Given the description of an element on the screen output the (x, y) to click on. 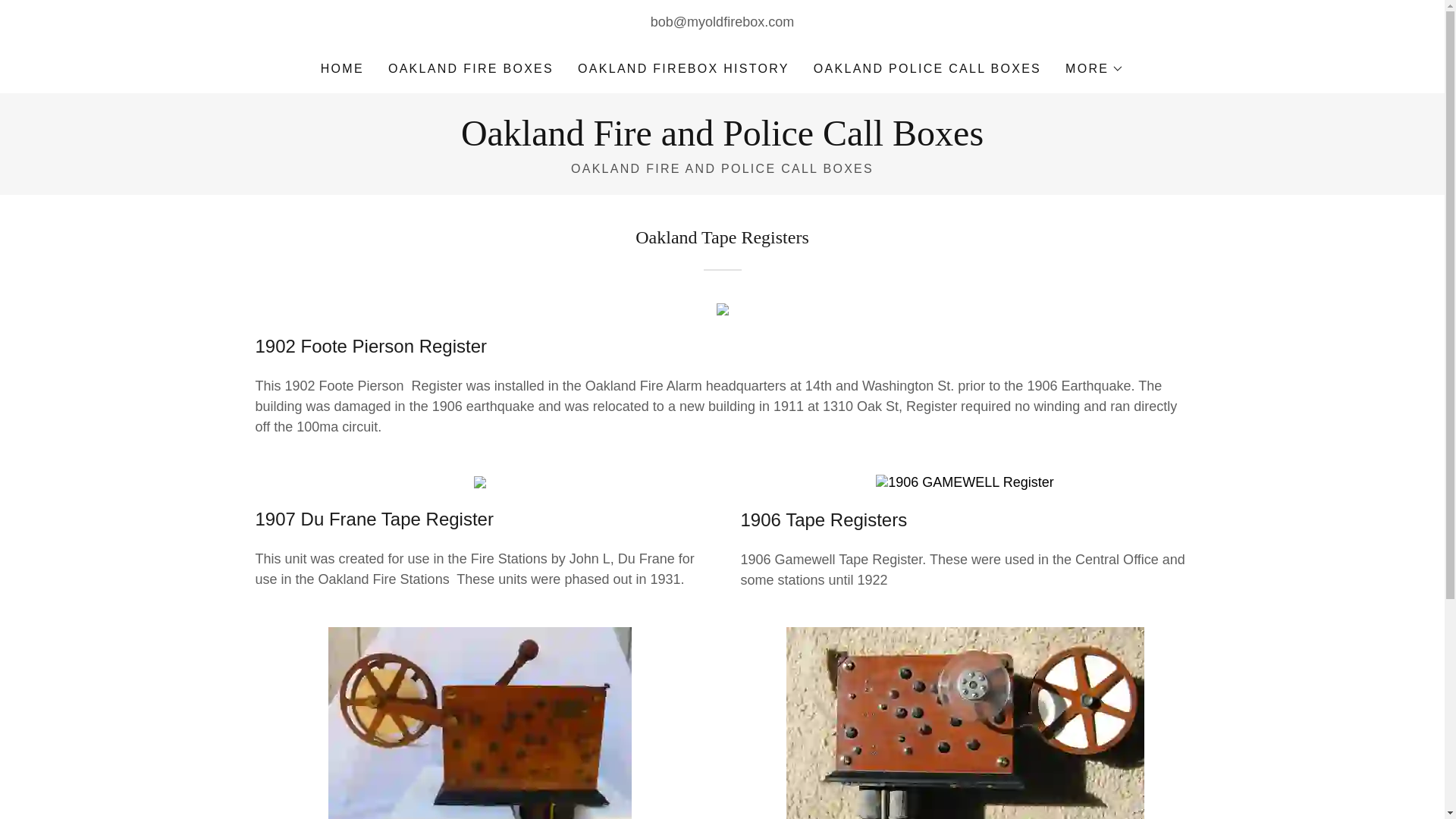
HOME (341, 68)
OAKLAND FIRE BOXES (470, 68)
Oakland Fire and Police Call Boxes (722, 140)
OAKLAND POLICE CALL BOXES (927, 68)
OAKLAND FIREBOX HISTORY (683, 68)
Oakland Fire and Police Call Boxes (722, 140)
MORE (1094, 68)
